Given the description of an element on the screen output the (x, y) to click on. 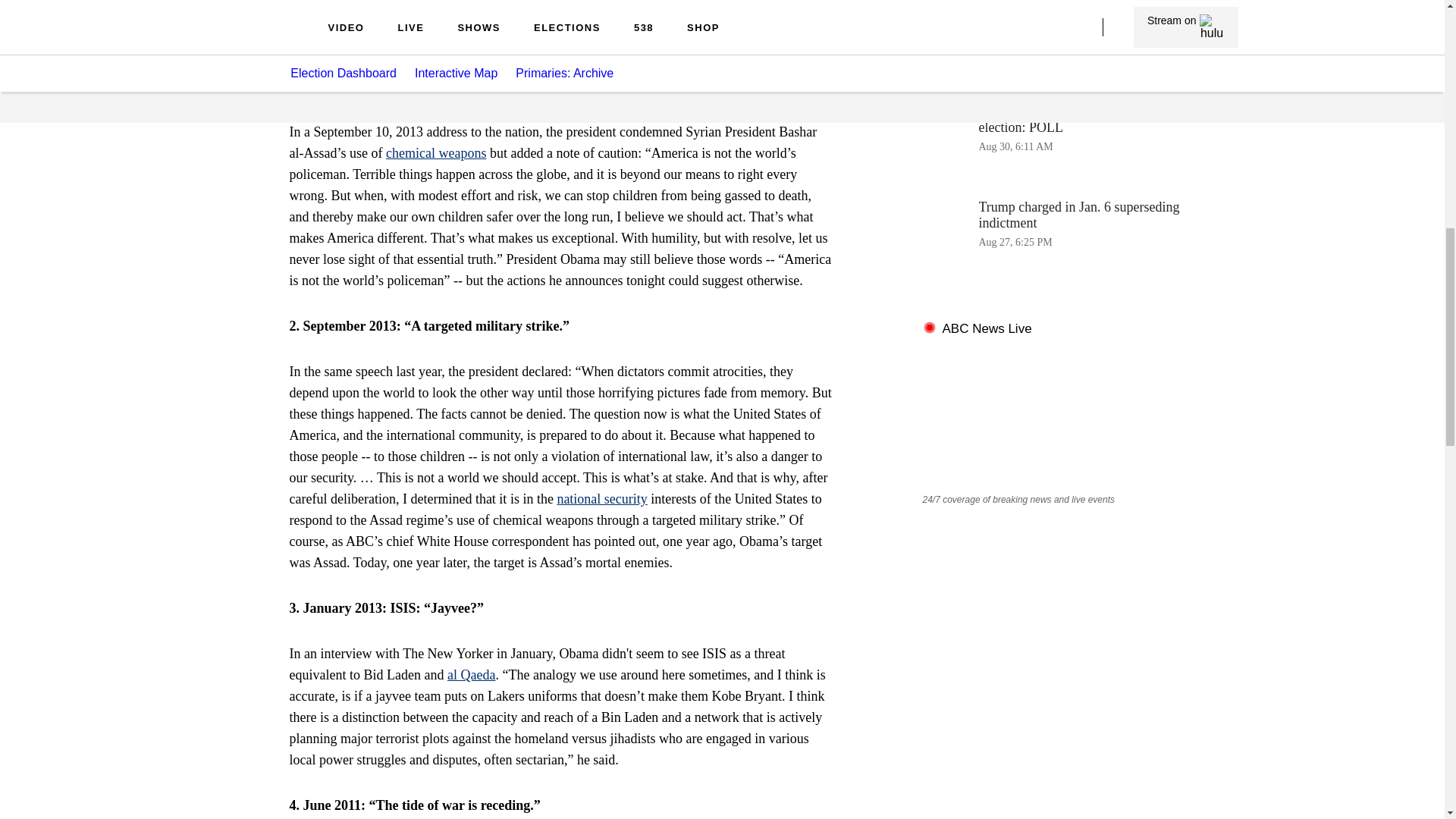
Middle East (552, 13)
chemical weapons (435, 152)
national security (601, 498)
al Qaeda (470, 674)
